Given the description of an element on the screen output the (x, y) to click on. 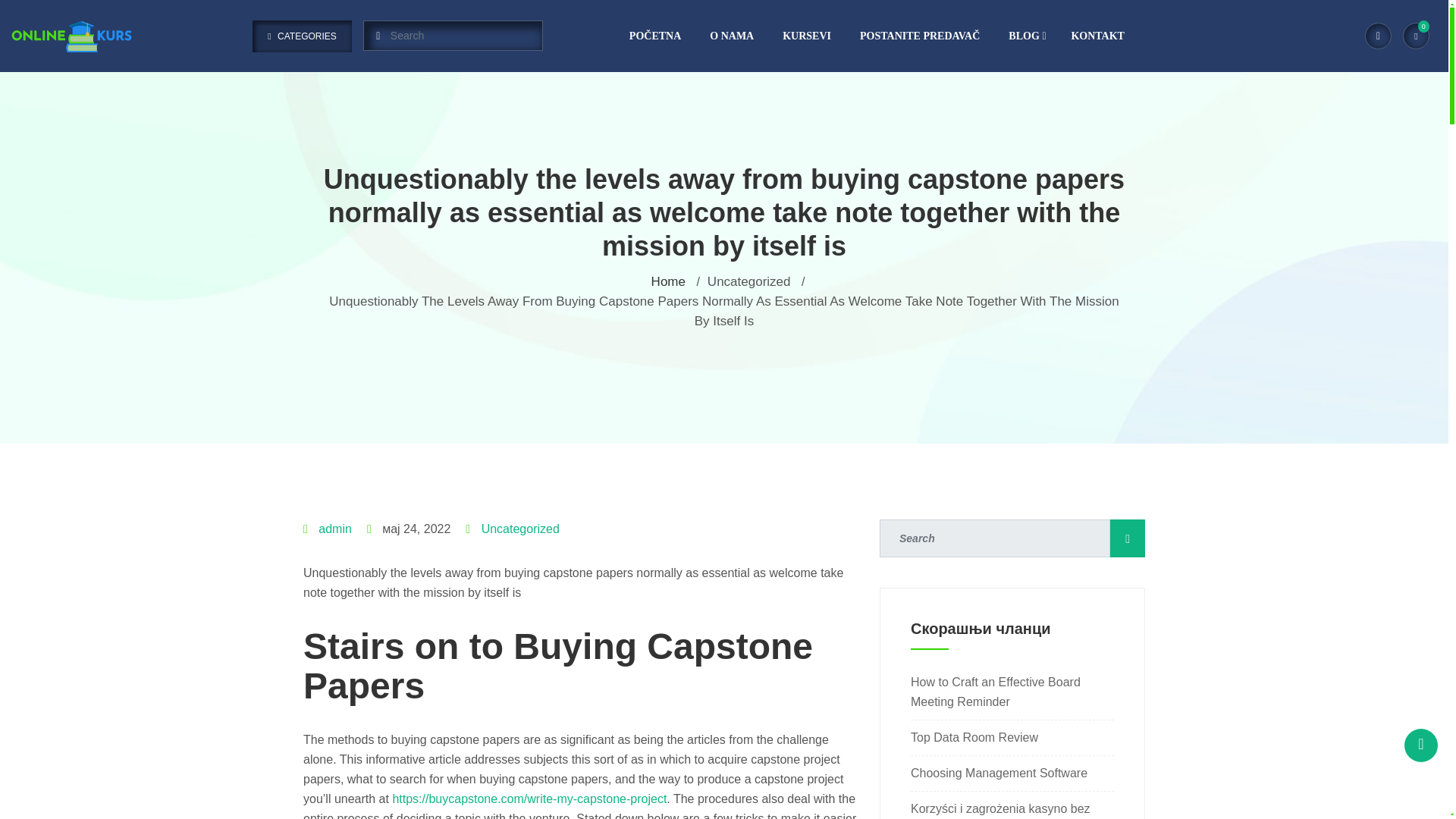
Home (667, 281)
How to Craft an Effective Board Meeting Reminder (995, 691)
admin (335, 528)
Uncategorized (520, 528)
0 (1416, 35)
View your shopping cart (1416, 35)
Top Data Room Review (974, 737)
